Given the description of an element on the screen output the (x, y) to click on. 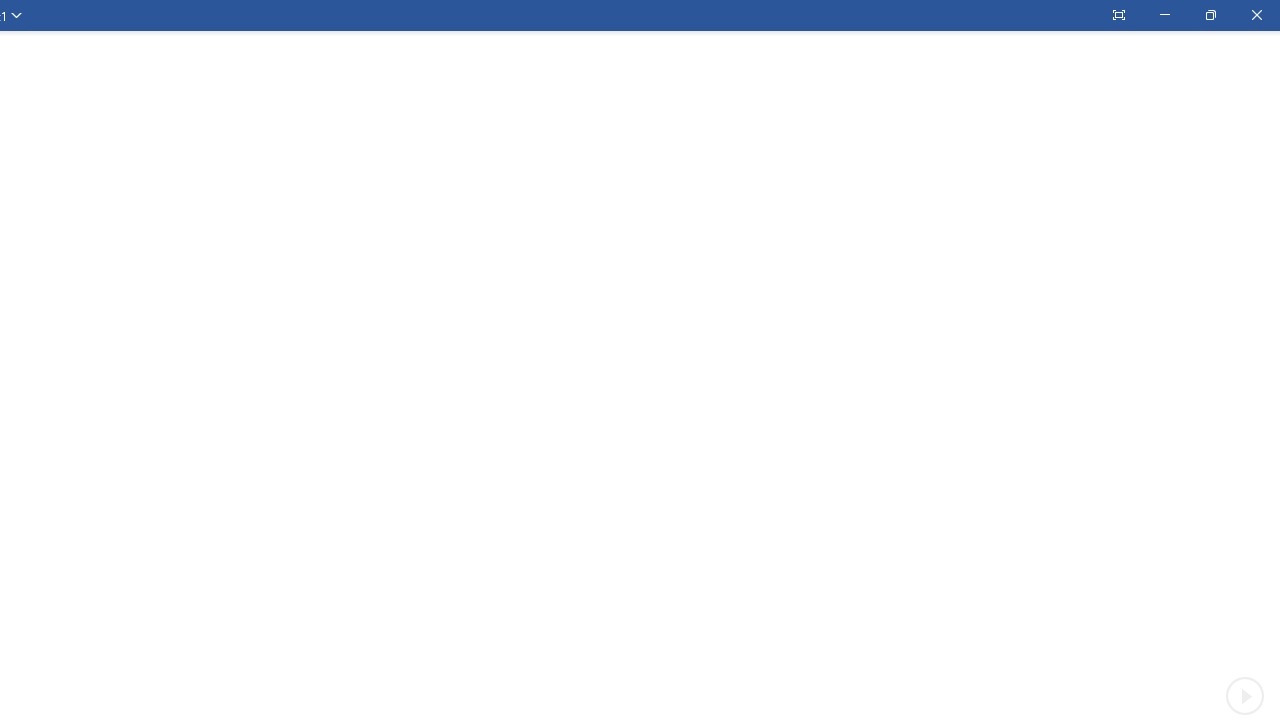
Auto-hide Reading Toolbar (1118, 15)
